Given the description of an element on the screen output the (x, y) to click on. 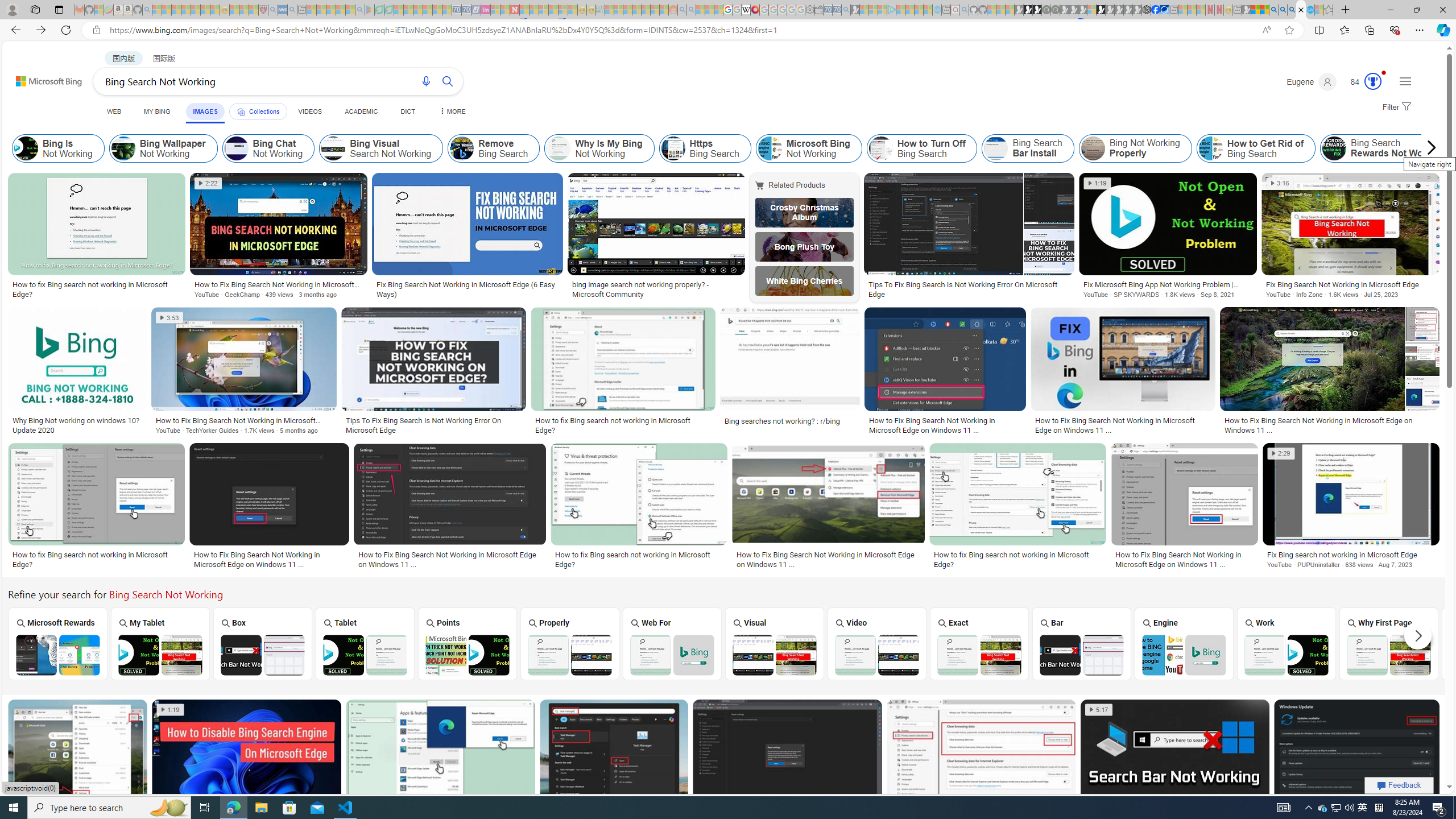
Https Bing Search (673, 148)
Bing Search Not Working On My Tablet My Tablet (160, 643)
Cheap Hotels - Save70.com - Sleeping (466, 9)
Microsoft-Report a Concern to Bing - Sleeping (98, 9)
Bing Wallpaper Not Working (122, 148)
Points (467, 643)
Settings - Sleeping (809, 9)
Utah sues federal government - Search - Sleeping (690, 9)
Local - MSN - Sleeping (253, 9)
Pets - MSN - Sleeping (340, 9)
